Given the description of an element on the screen output the (x, y) to click on. 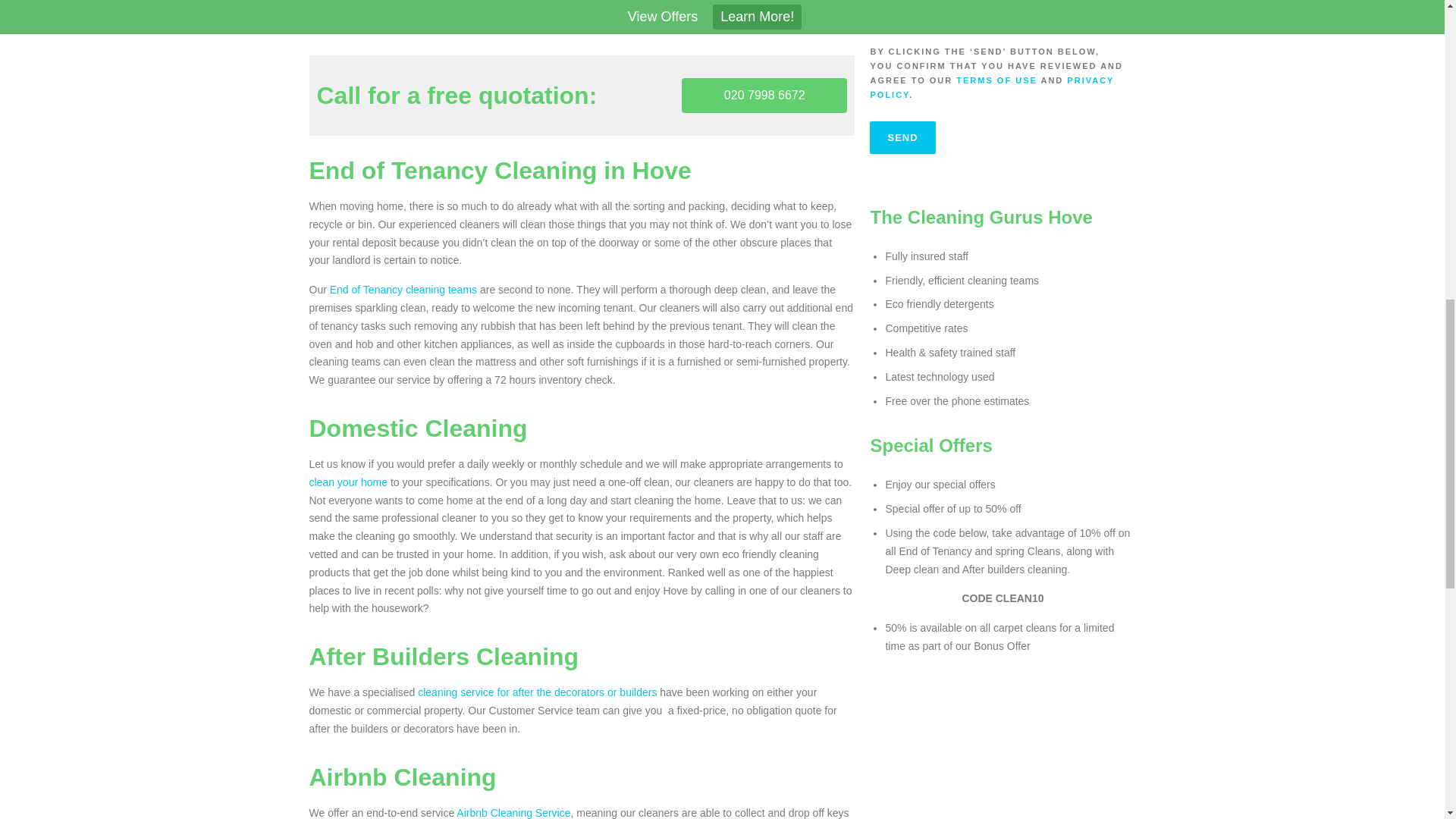
Airbnb Cleaning Service (513, 812)
TERMS OF USE (996, 80)
PRIVACY POLICY (991, 87)
SEND (901, 137)
020 7998 6672 (764, 95)
cleaning service for after the decorators or builders (536, 692)
No (968, 9)
SEND (901, 137)
Yes (916, 9)
End of Tenancy cleaning teams (403, 289)
clean your home (348, 481)
